Given the description of an element on the screen output the (x, y) to click on. 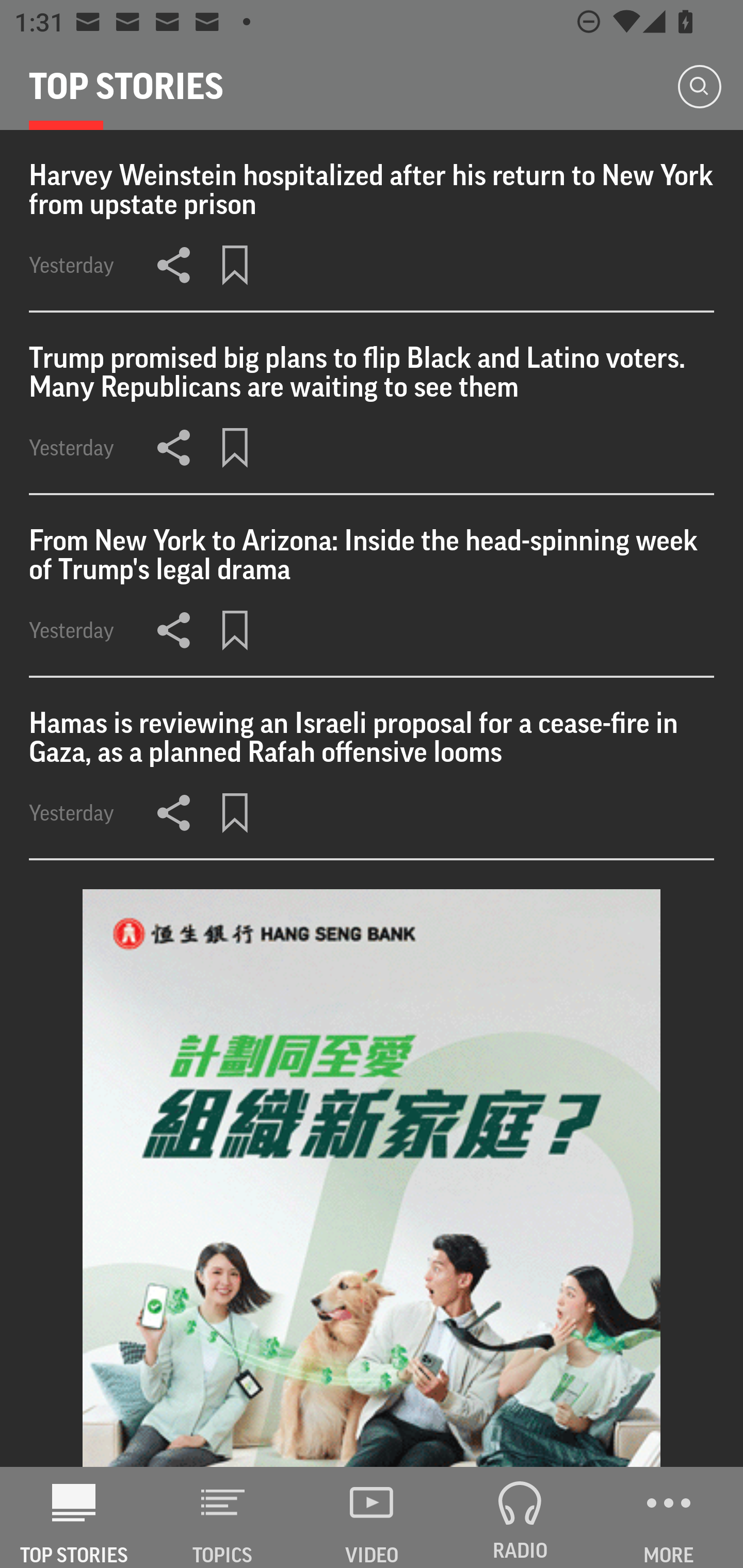
AP News TOP STORIES (74, 1517)
TOPICS (222, 1517)
VIDEO (371, 1517)
RADIO (519, 1517)
MORE (668, 1517)
